Given the description of an element on the screen output the (x, y) to click on. 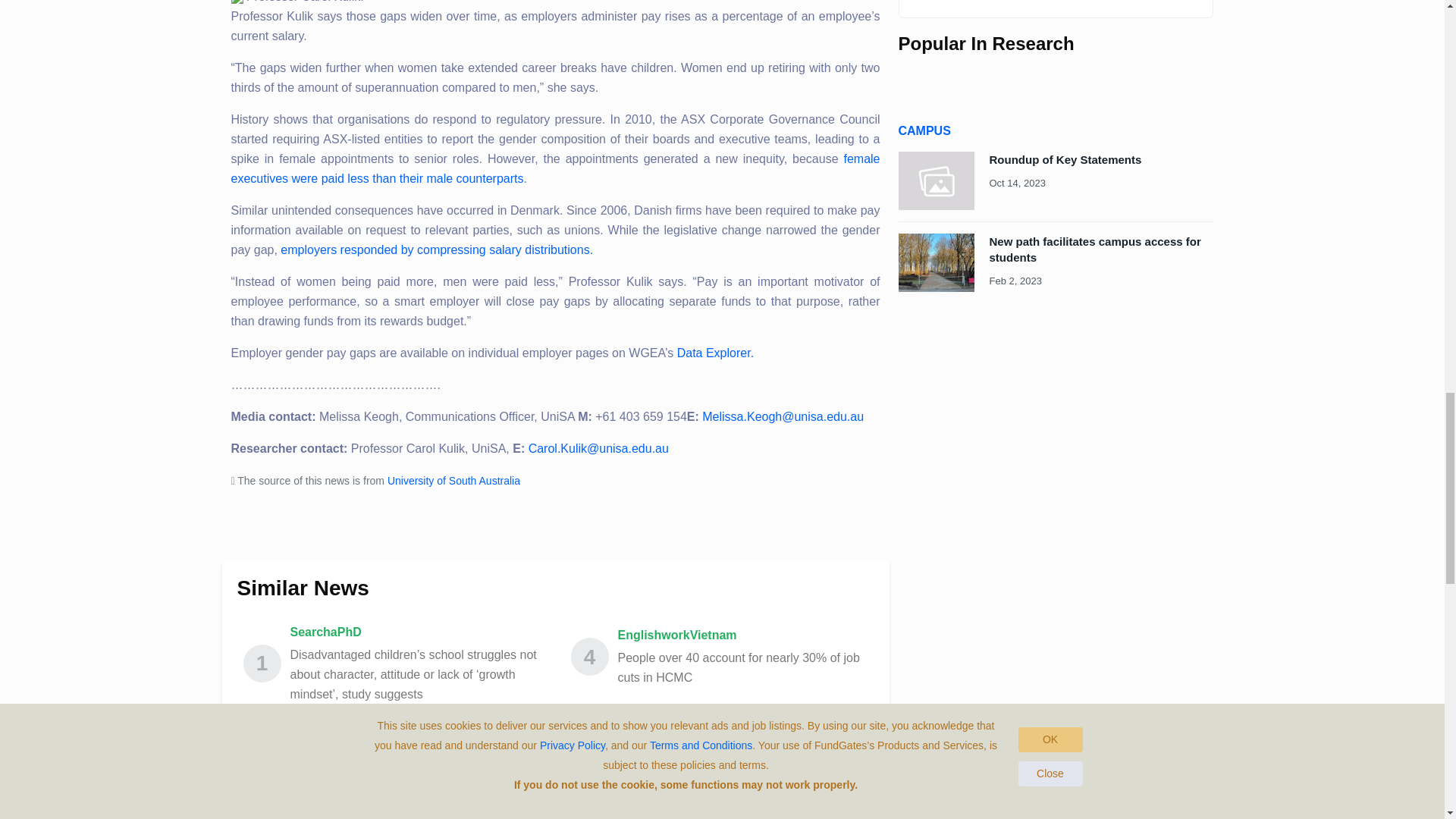
EnglishworkVietnam (742, 734)
Data Explorer. (715, 352)
SearchaPhD (414, 632)
SearchaPhD (414, 744)
University of South Australia (453, 480)
employers responded by compressing salary distributions. (436, 249)
EnglishworkVietnam (742, 635)
